Given the description of an element on the screen output the (x, y) to click on. 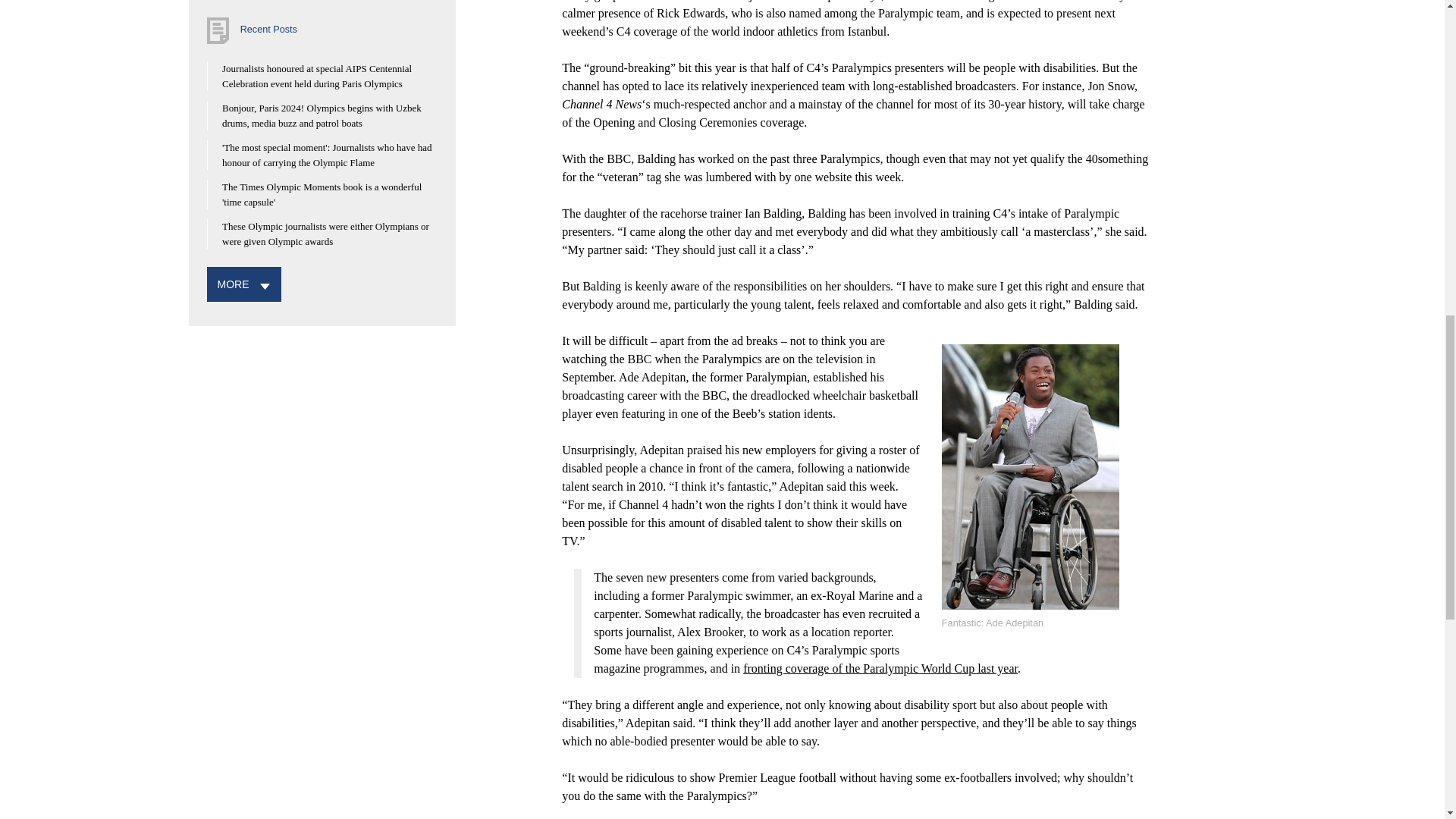
View more posts from the archive (232, 284)
fronting coverage of the Paralympic World Cup last year (879, 667)
